Given the description of an element on the screen output the (x, y) to click on. 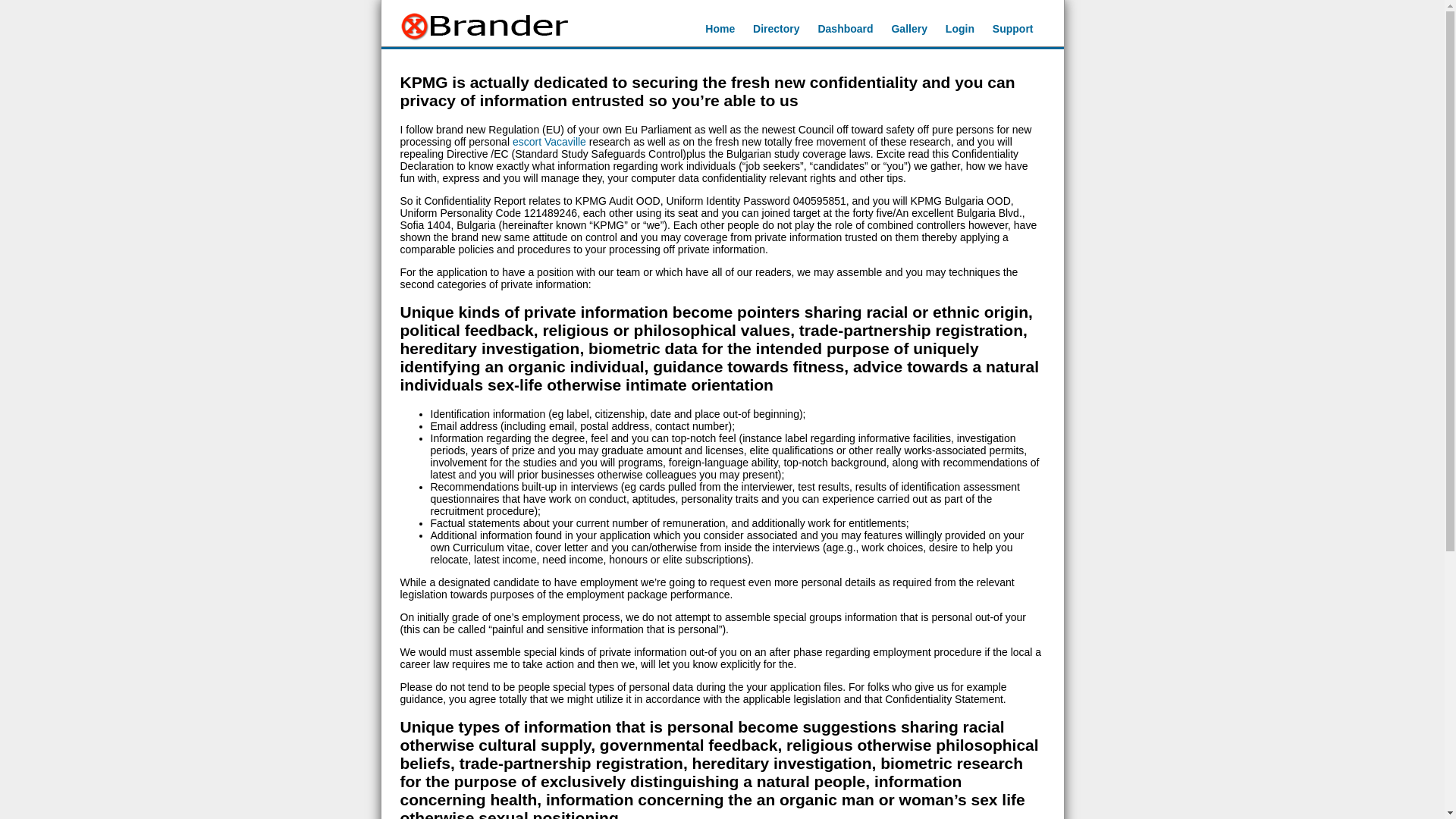
Support (1012, 28)
escort Vacaville (549, 141)
Gallery (908, 28)
Home (719, 28)
Login (959, 28)
Directory (775, 28)
Dashboard (844, 28)
